Given the description of an element on the screen output the (x, y) to click on. 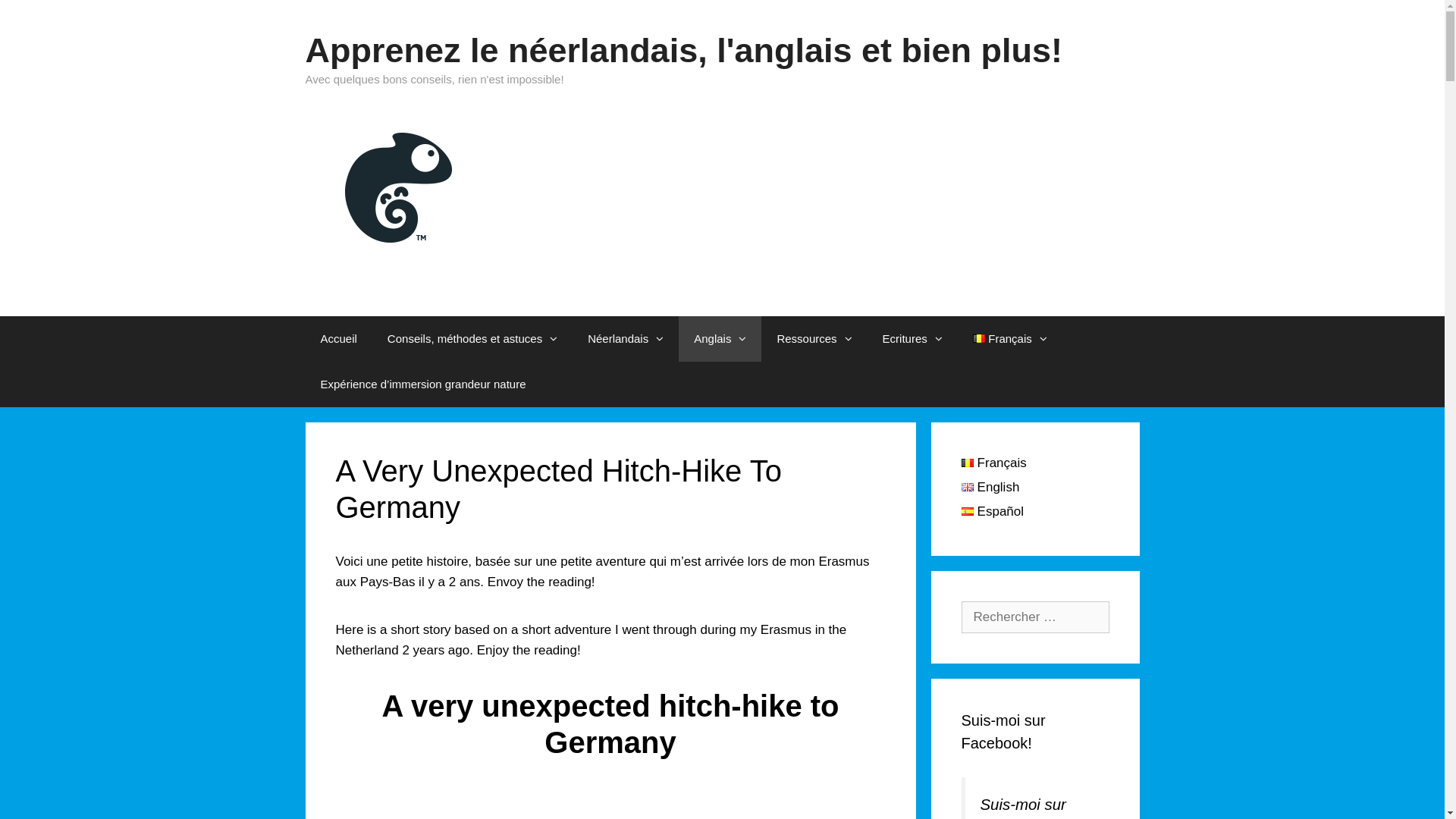
Ressources Element type: text (813, 337)
Accueil Element type: text (337, 337)
Rechercher Element type: text (49, 15)
Anglais Element type: text (719, 337)
English Element type: text (990, 487)
Ecritures Element type: text (912, 337)
Suis-moi sur Facebook! Element type: text (1003, 731)
